Given the description of an element on the screen output the (x, y) to click on. 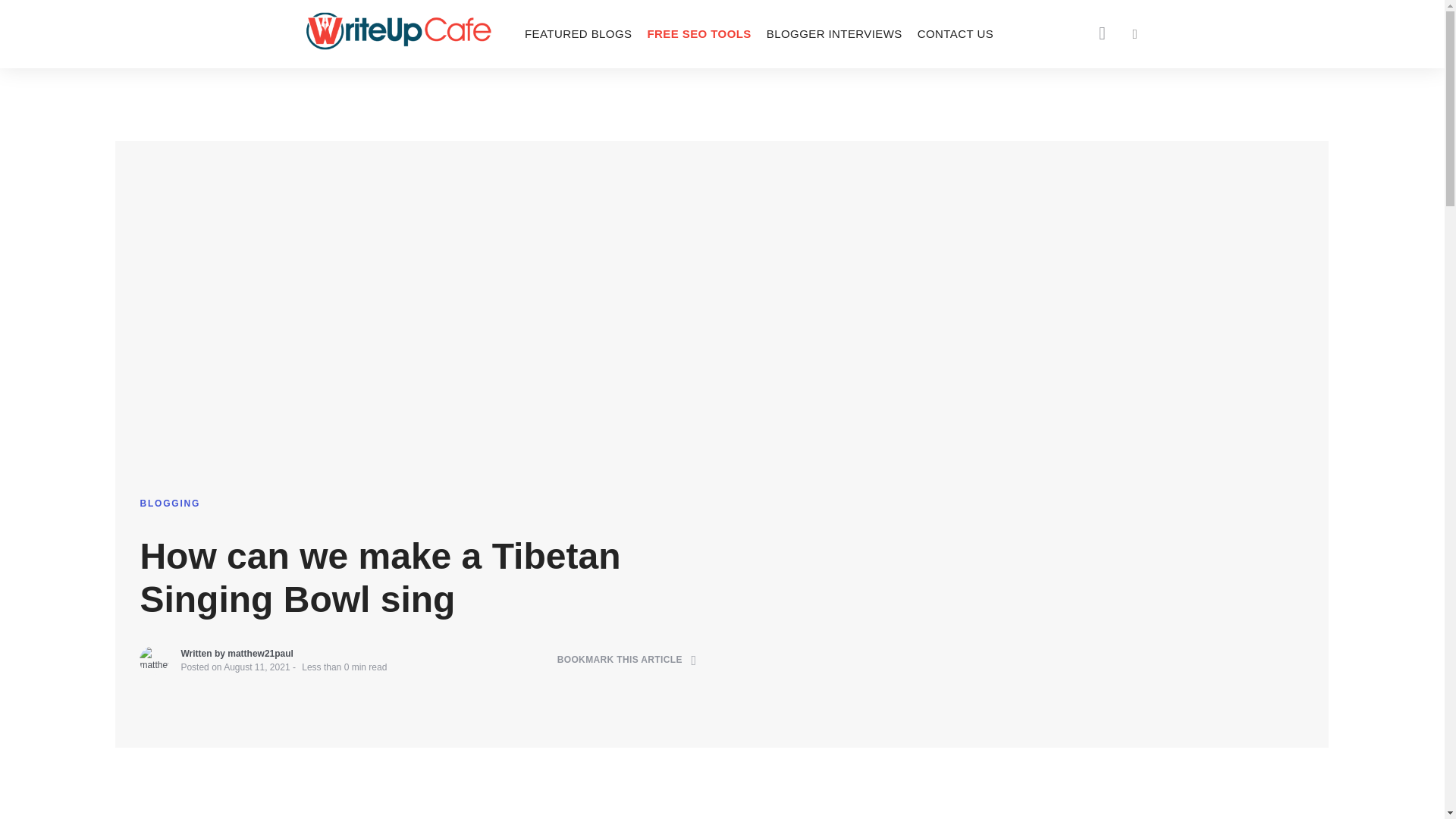
FREE SEO TOOLS (698, 33)
BLOGGER INTERVIEWS (834, 33)
August 11, 2021 (256, 666)
FREE SEO TOOLS (698, 33)
BLOGGER INTERVIEWS (834, 33)
BLOGGING (169, 502)
FEATURED BLOGS (577, 33)
CONTACT US (955, 33)
CONTACT US (955, 33)
FEATURED BLOGS (577, 33)
